Given the description of an element on the screen output the (x, y) to click on. 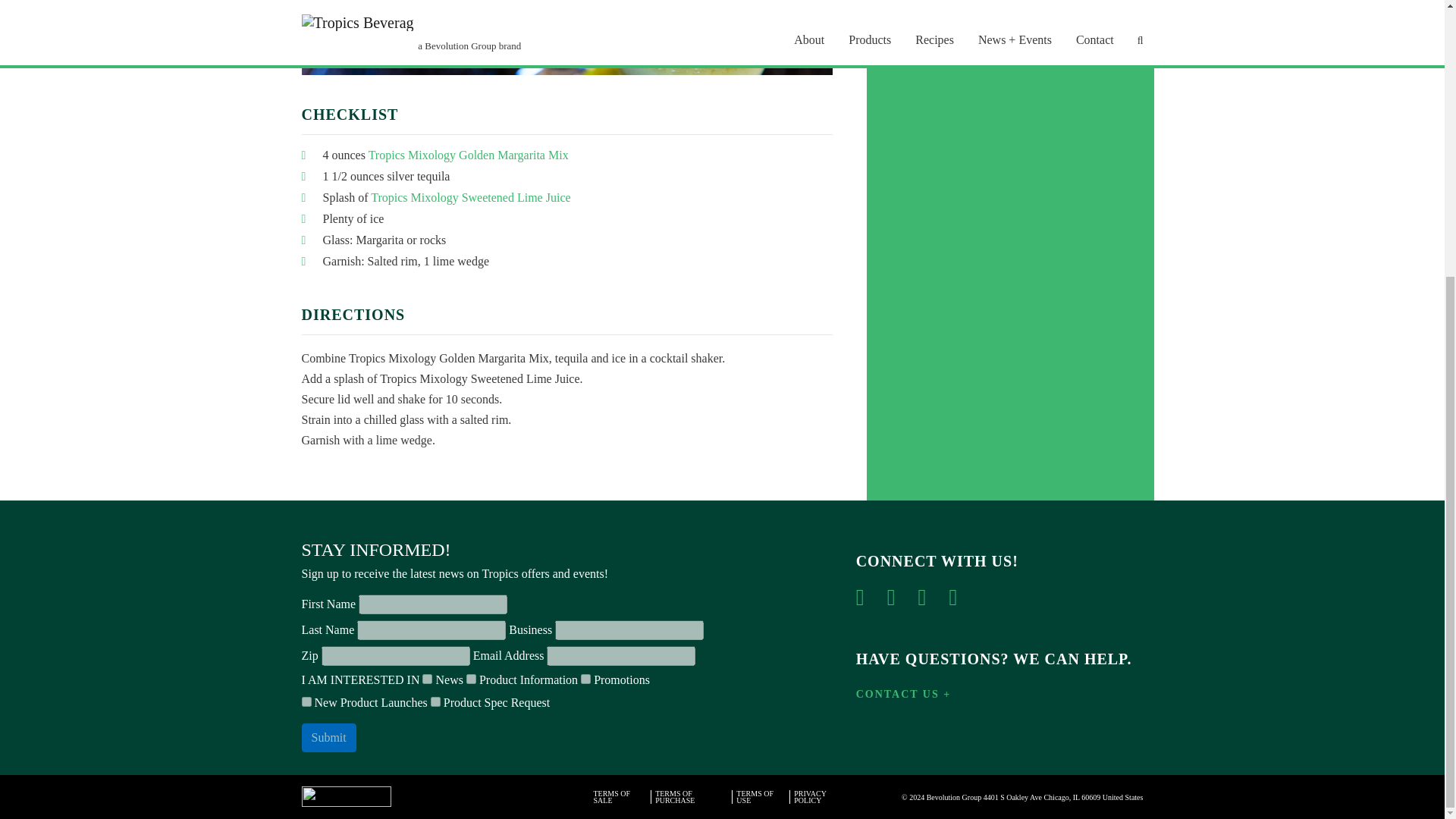
Submit (328, 737)
CHILI MANGORITA (986, 24)
b8ddfd41a3 (427, 678)
5 digit zip code, numbers only (395, 655)
aadc1e71f1 (435, 701)
98679a0fd4 (306, 701)
3963f9ab28 (585, 678)
c4b2ee3fa6 (470, 678)
TERMS OF USE (761, 796)
PRIVACY POLICY (822, 796)
TERMS OF SALE (619, 796)
Tropics Mixology Sweetened Lime Juice (470, 196)
Tropics Mixology Golden Margarita Mix (468, 154)
TERMS OF PURCHASE (691, 796)
